Given the description of an element on the screen output the (x, y) to click on. 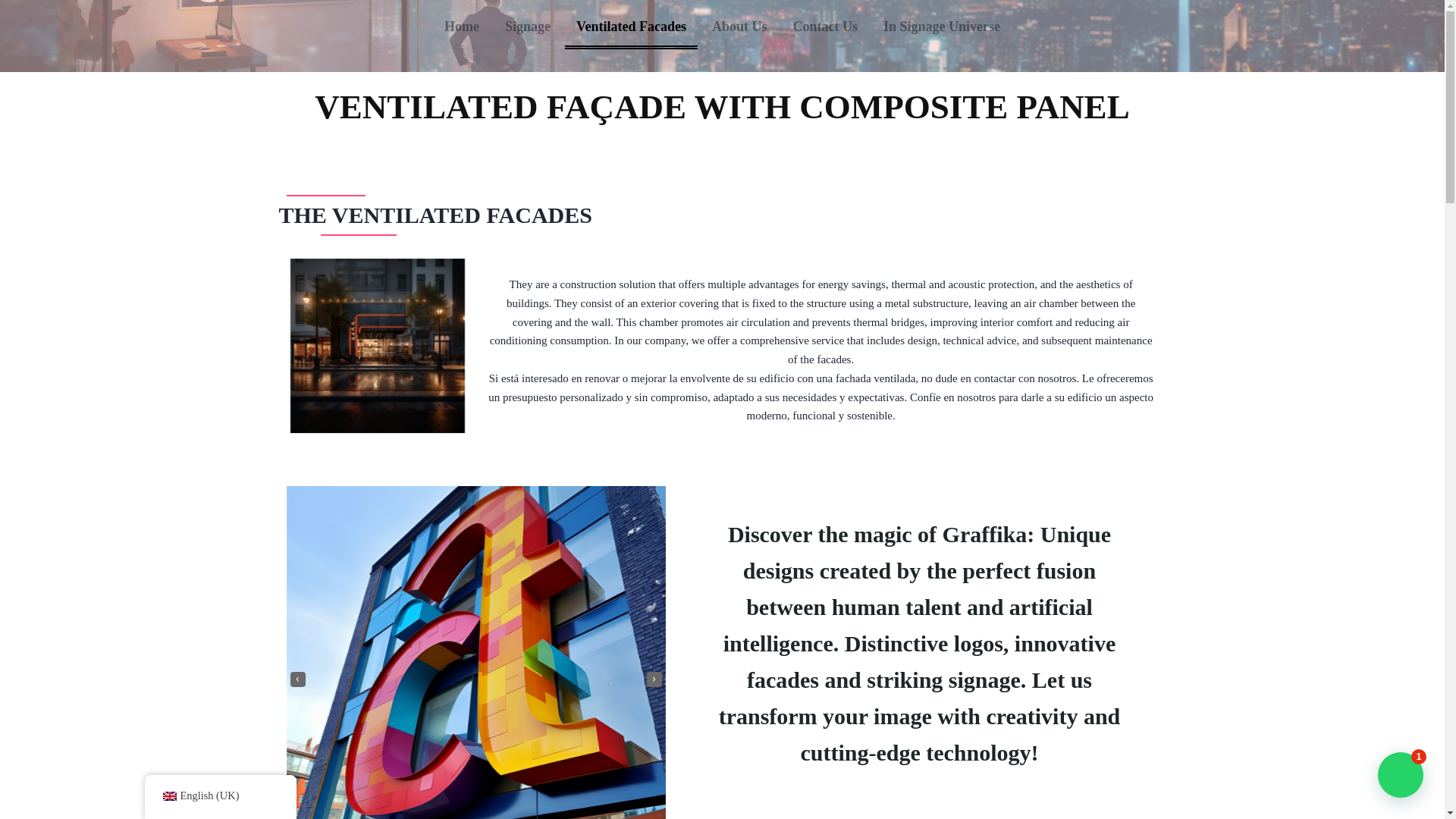
Signage (527, 26)
In Signage Universe (941, 26)
About Us (739, 26)
Ventilated Facades (630, 26)
f4 (376, 345)
Home (461, 26)
Contact Us (824, 26)
